Given the description of an element on the screen output the (x, y) to click on. 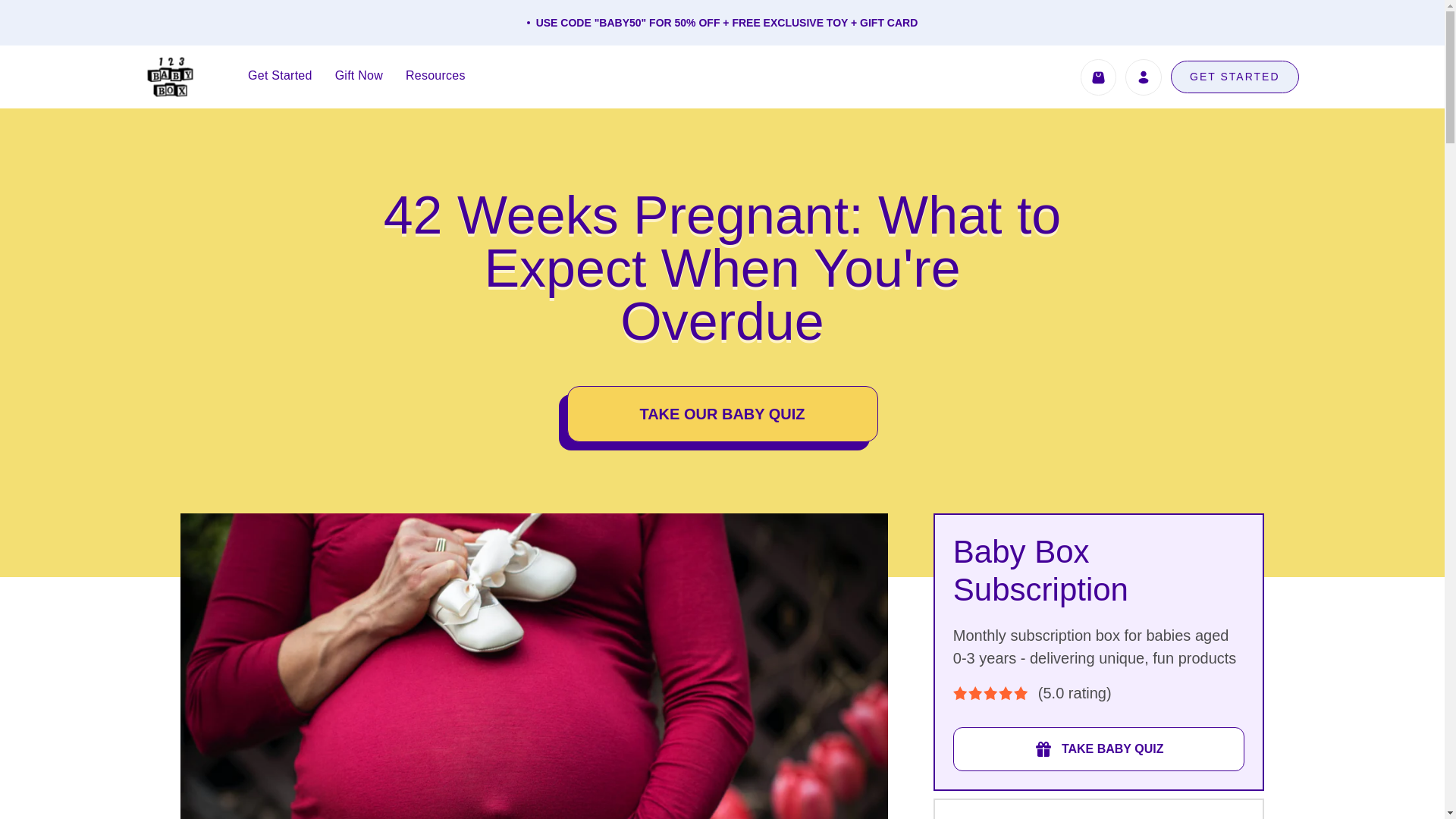
GET STARTED (1234, 76)
Get Started (280, 75)
TAKE BABY QUIZ (1098, 749)
TAKE OUR BABY QUIZ (722, 413)
Gift Now (358, 75)
Resources (435, 75)
